Given the description of an element on the screen output the (x, y) to click on. 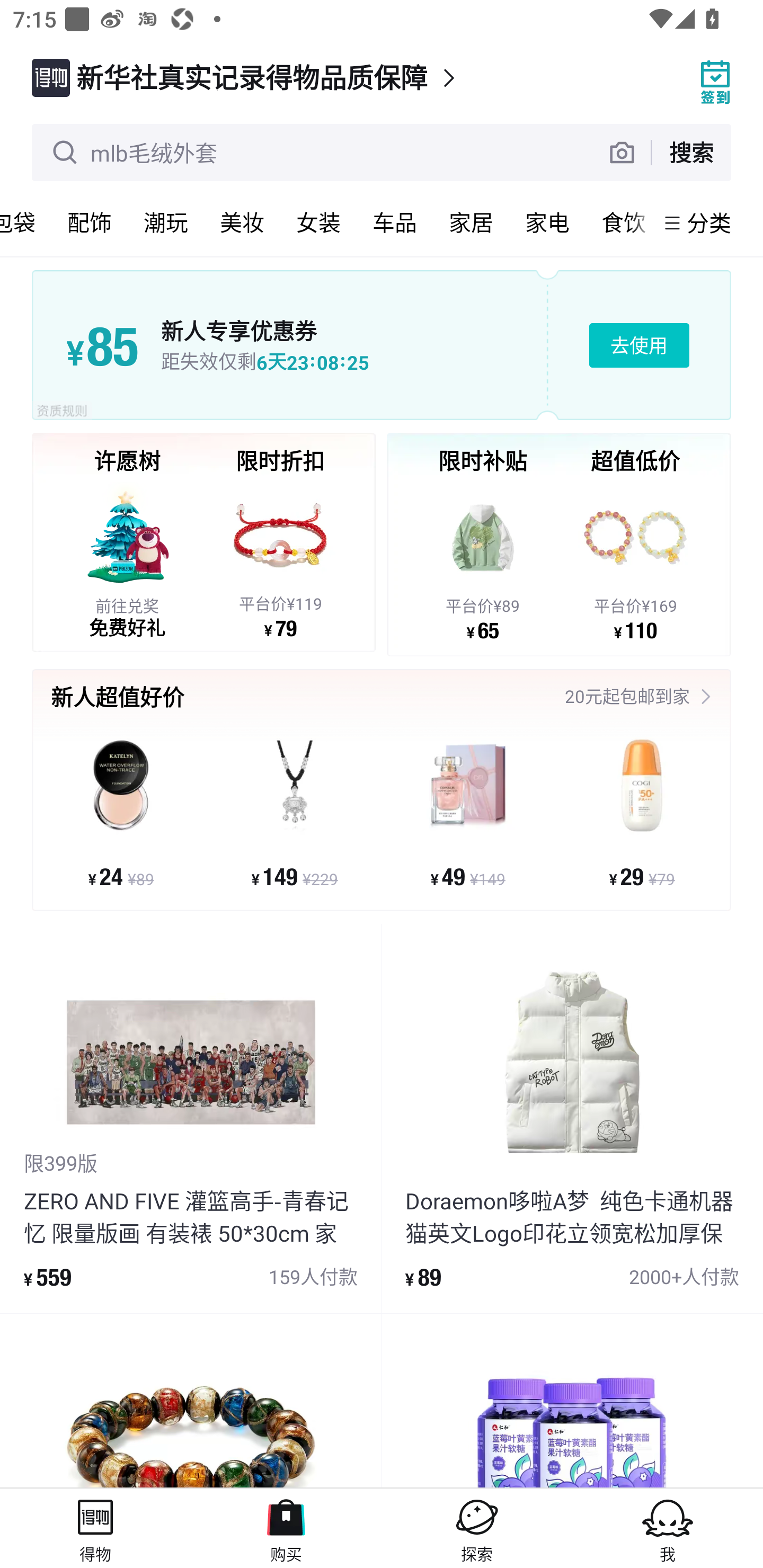
搜索 (690, 152)
配饰 (89, 222)
潮玩 (165, 222)
美妆 (241, 222)
女装 (318, 222)
车品 (394, 222)
家居 (470, 222)
家电 (546, 222)
食饮 (619, 222)
分类 (708, 222)
平台价¥119 ¥ 79 (279, 559)
前往兑奖 免费好礼 (127, 559)
平台价¥89 ¥ 65 (482, 560)
平台价¥169 ¥ 110 (635, 560)
¥ 24 ¥89 (121, 813)
¥ 149 ¥229 (294, 813)
¥ 49 ¥149 (468, 813)
¥ 29 ¥79 (641, 813)
product_item (190, 1400)
product_item (572, 1400)
得物 (95, 1528)
购买 (285, 1528)
探索 (476, 1528)
我 (667, 1528)
